Given the description of an element on the screen output the (x, y) to click on. 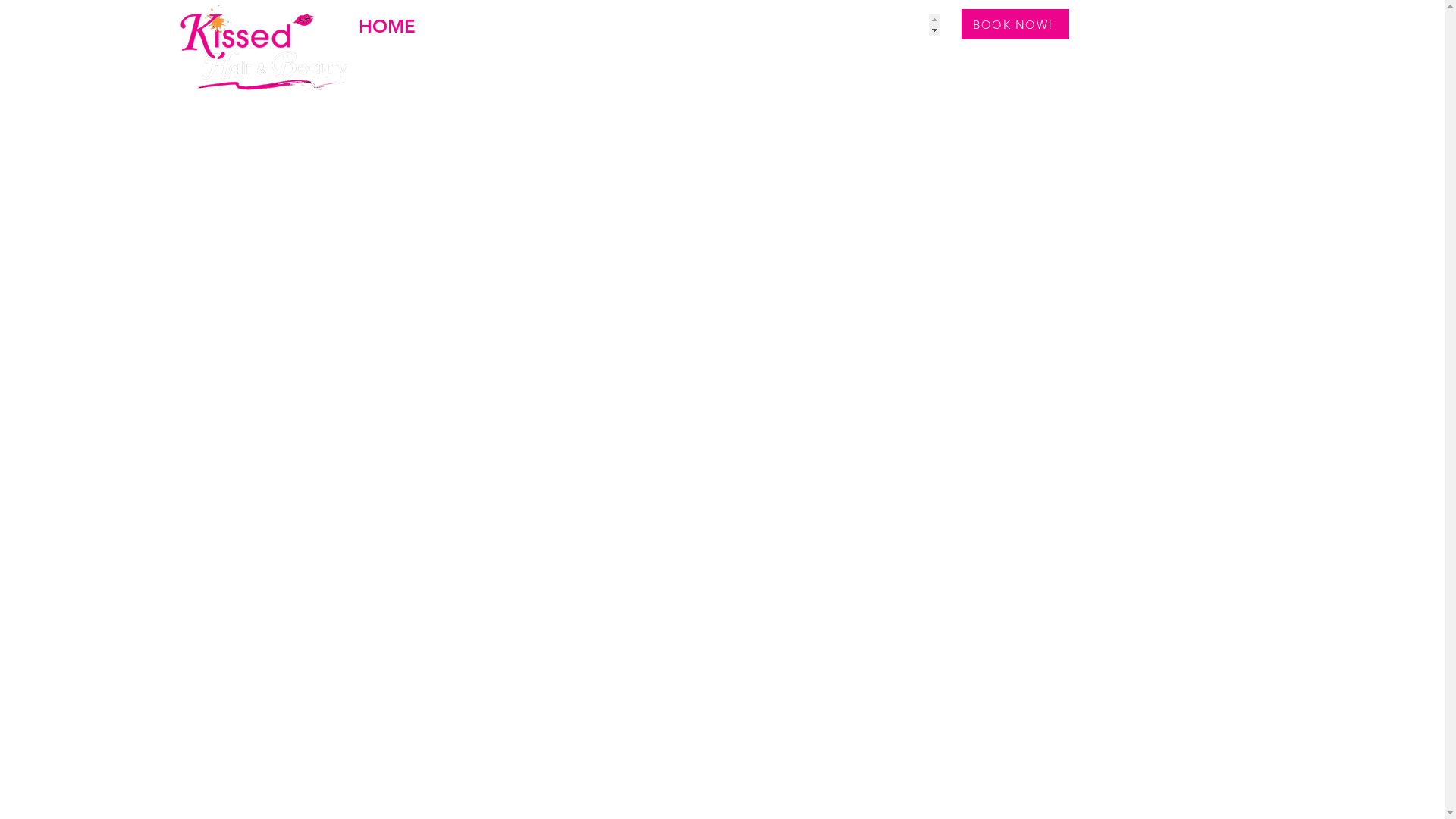
HOME Element type: text (386, 24)
CONTACT Element type: text (677, 24)
ABOUT Element type: text (462, 24)
BOOK NOW! Element type: text (1015, 24)
HAIR Element type: text (531, 24)
BLOG Element type: text (592, 24)
